Given the description of an element on the screen output the (x, y) to click on. 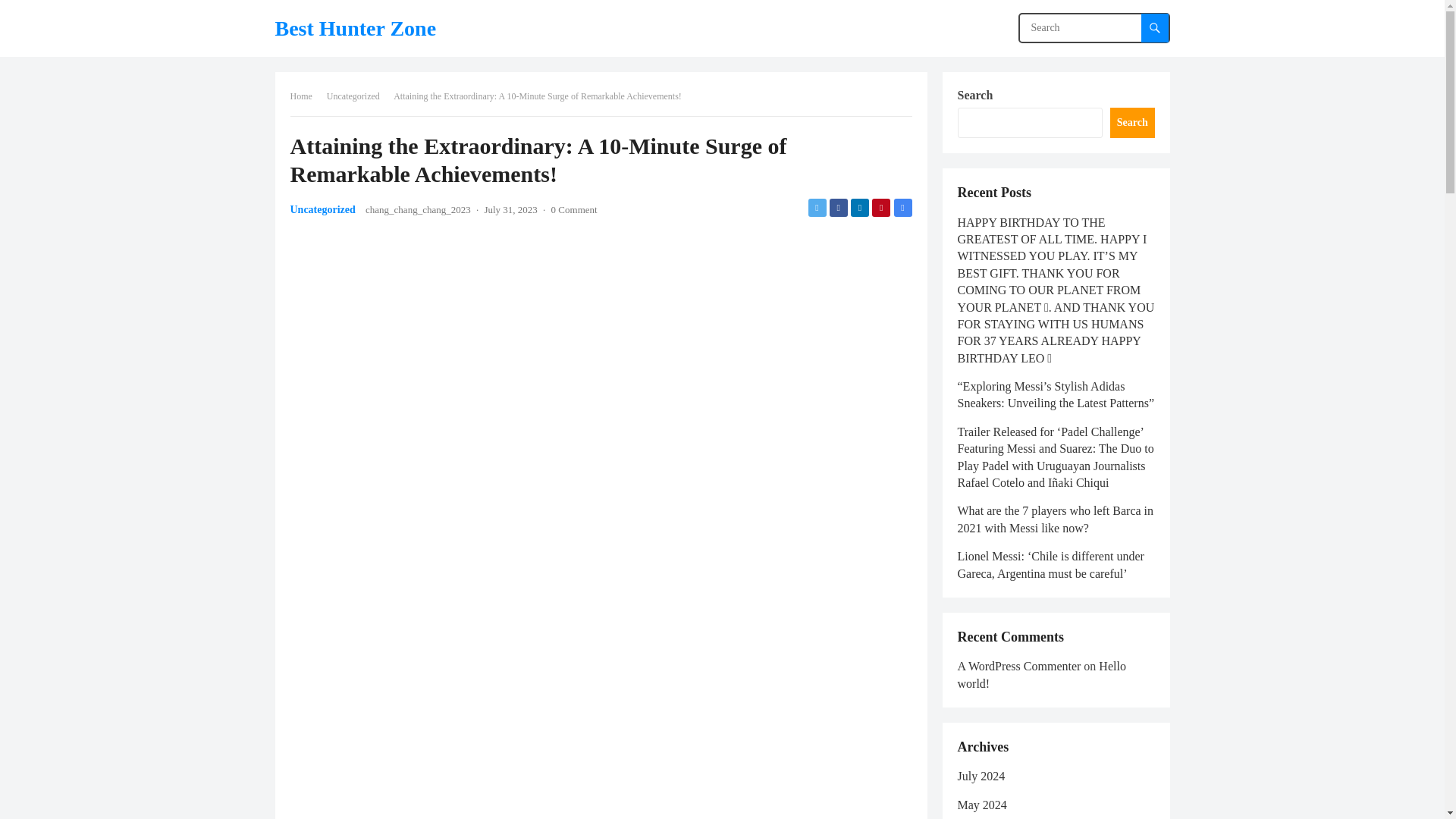
Uncategorized (358, 95)
0 Comment (573, 209)
Home (305, 95)
Best Hunter Zone (355, 28)
Uncategorized (322, 209)
